Given the description of an element on the screen output the (x, y) to click on. 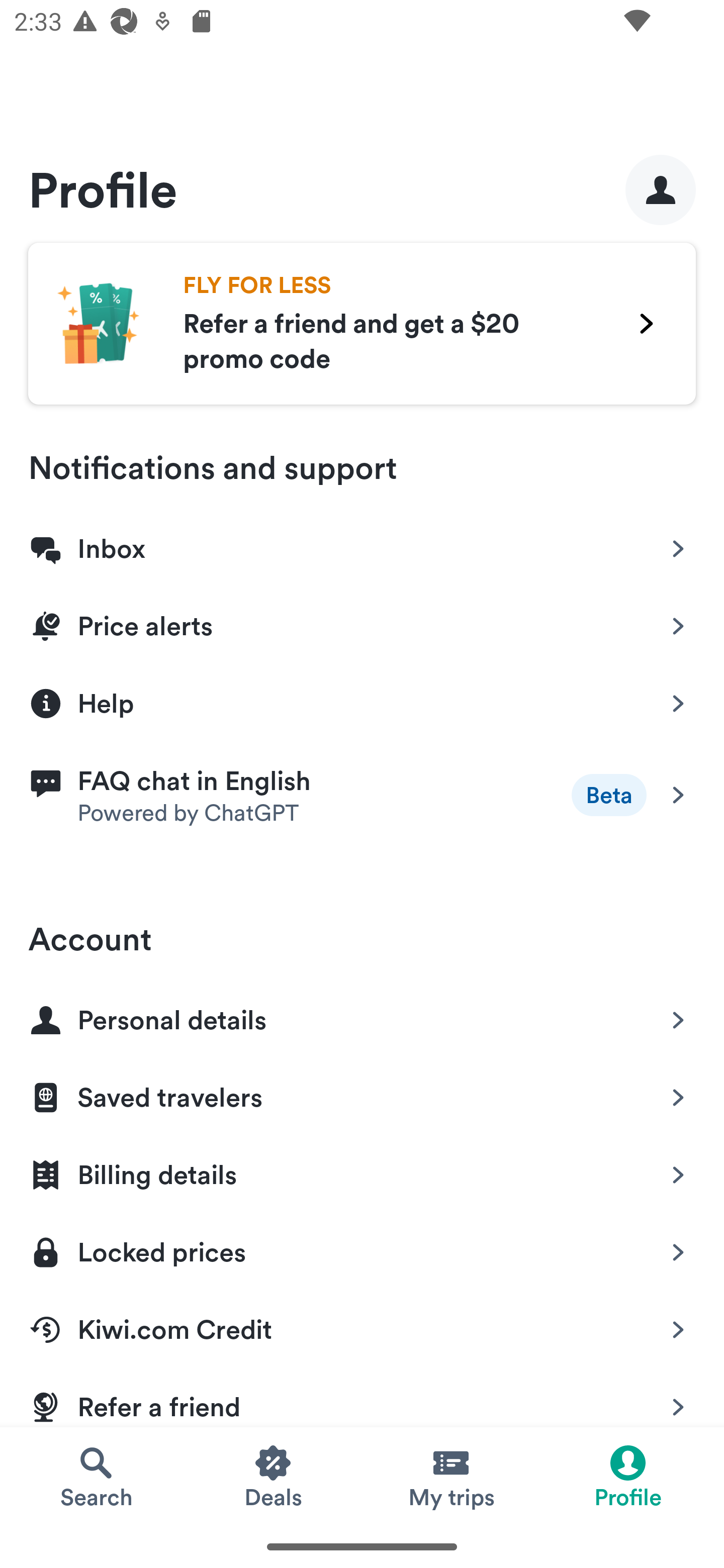
profile picture (660, 189)
Inbox (362, 544)
Price alerts (362, 622)
Help (362, 701)
Beta FAQ chat in English Powered by ChatGPT (362, 794)
Personal details (362, 1016)
Saved travelers (362, 1093)
Billing details (362, 1171)
Locked prices (362, 1248)
Kiwi.com Credit (362, 1326)
Refer a friend (362, 1395)
Search (95, 1475)
Deals (273, 1475)
My trips (450, 1475)
